Given the description of an element on the screen output the (x, y) to click on. 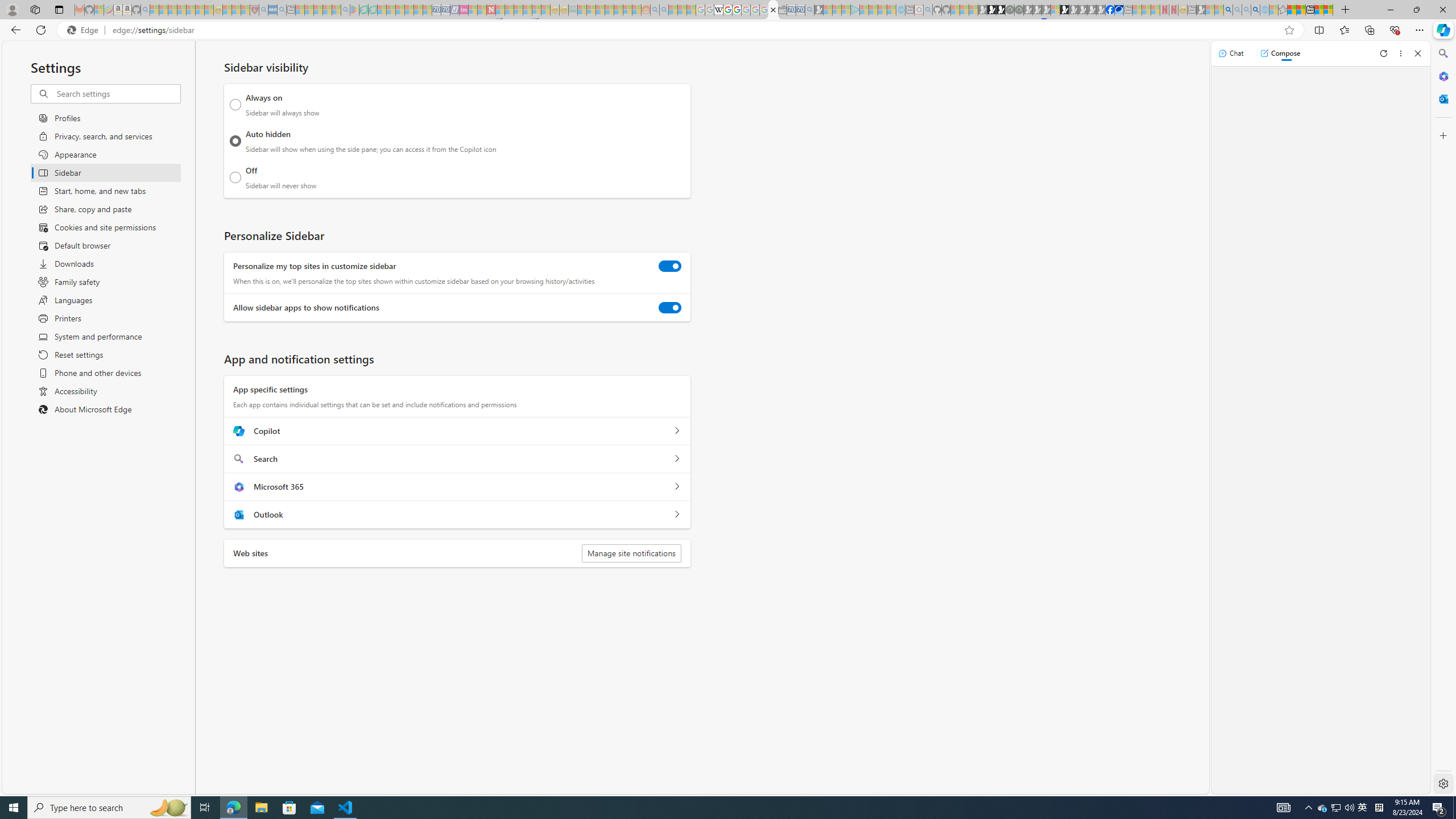
Jobs - lastminute.com Investor Portal - Sleeping (463, 9)
google - Search - Sleeping (345, 9)
Aberdeen, Hong Kong SAR weather forecast | Microsoft Weather (1300, 9)
Local - MSN - Sleeping (244, 9)
Allow sidebar apps to show notifications (669, 307)
Compose (1279, 52)
The Weather Channel - MSN - Sleeping (172, 9)
Target page - Wikipedia (718, 9)
